Given the description of an element on the screen output the (x, y) to click on. 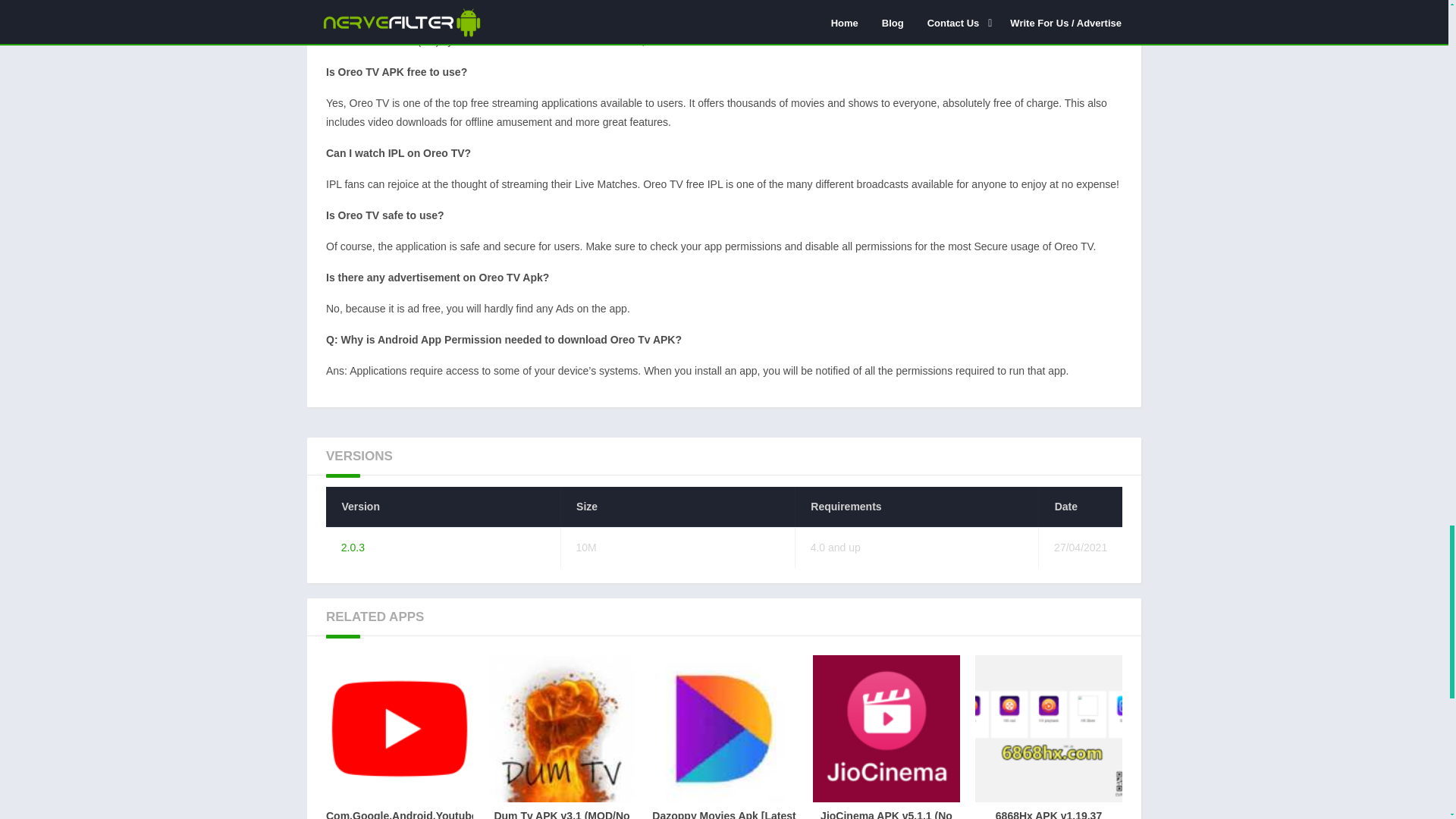
2.0.3 (1048, 737)
Com.Google.Android.Youtube APK Version 19.20.34 (352, 547)
6868Hx APK v1.19.37 Download For Android (399, 737)
